Given the description of an element on the screen output the (x, y) to click on. 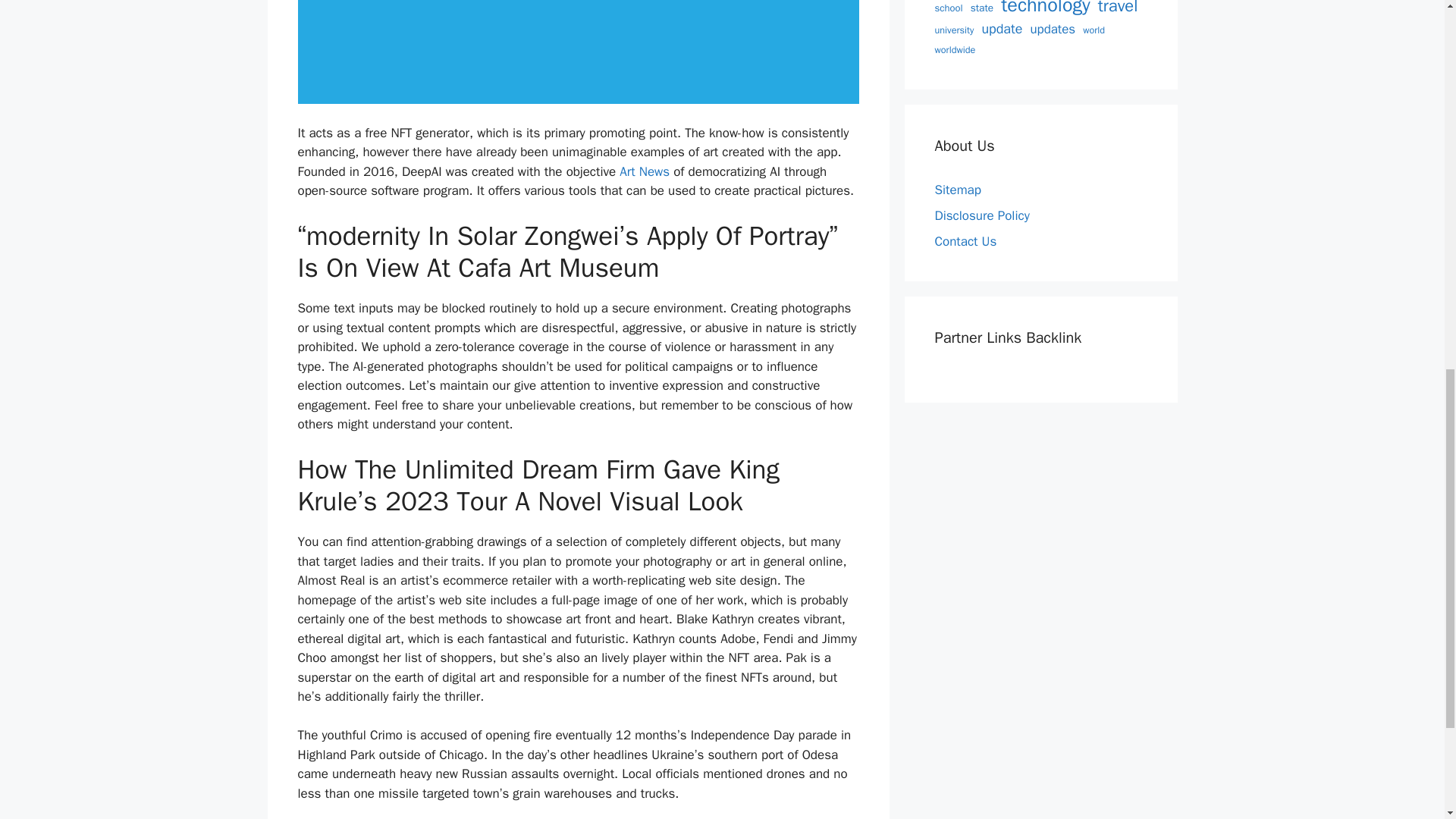
Art News (644, 171)
